Given the description of an element on the screen output the (x, y) to click on. 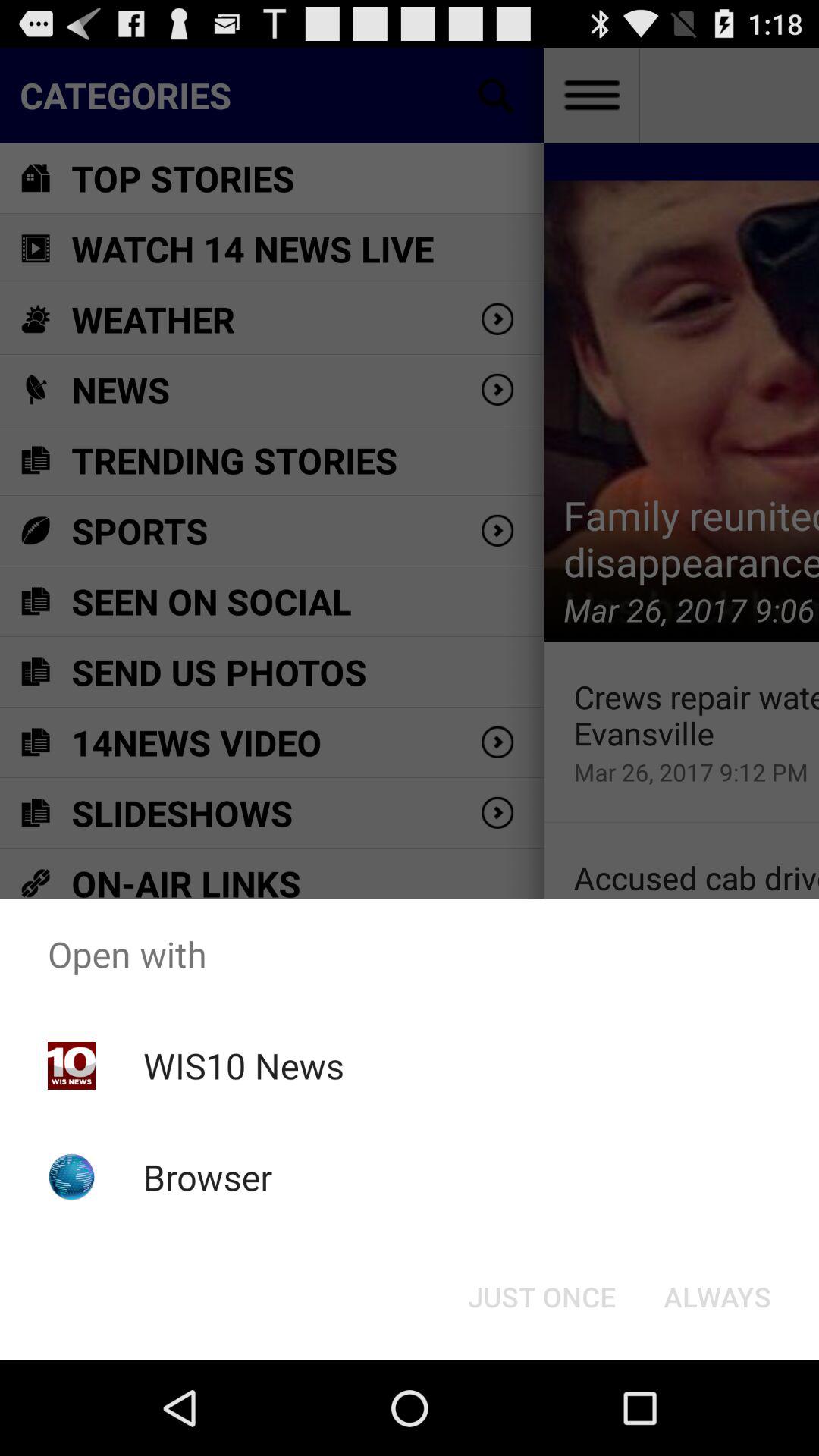
scroll to the browser icon (207, 1176)
